Given the description of an element on the screen output the (x, y) to click on. 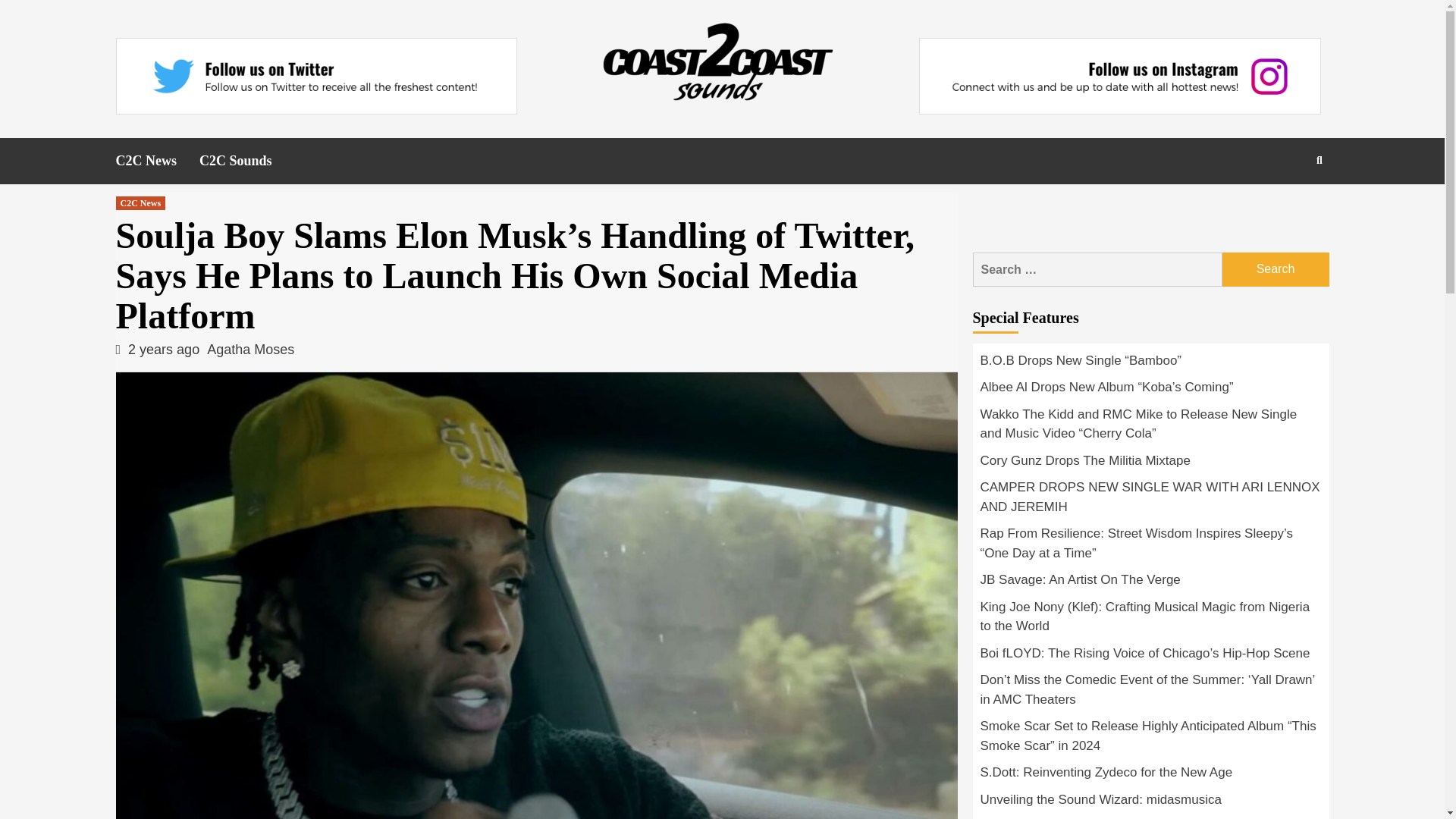
Unveiling the Sound Wizard: midasmusica (1149, 803)
CAMPER DROPS NEW SINGLE WAR WITH ARI LENNOX AND JEREMIH (1149, 500)
Follow on Instagram (1119, 75)
Follow on Twitter (315, 75)
S.Dott: Reinventing Zydeco for the New Age (1149, 776)
Search (1276, 269)
C2C News (140, 202)
Search (1276, 269)
C2C Sounds (247, 161)
Search (1276, 269)
C2C News (157, 161)
Advertisement (1150, 214)
Search (1283, 209)
JB Savage: An Artist On The Verge (1149, 583)
Cory Gunz Drops The Militia Mixtape (1149, 464)
